Given the description of an element on the screen output the (x, y) to click on. 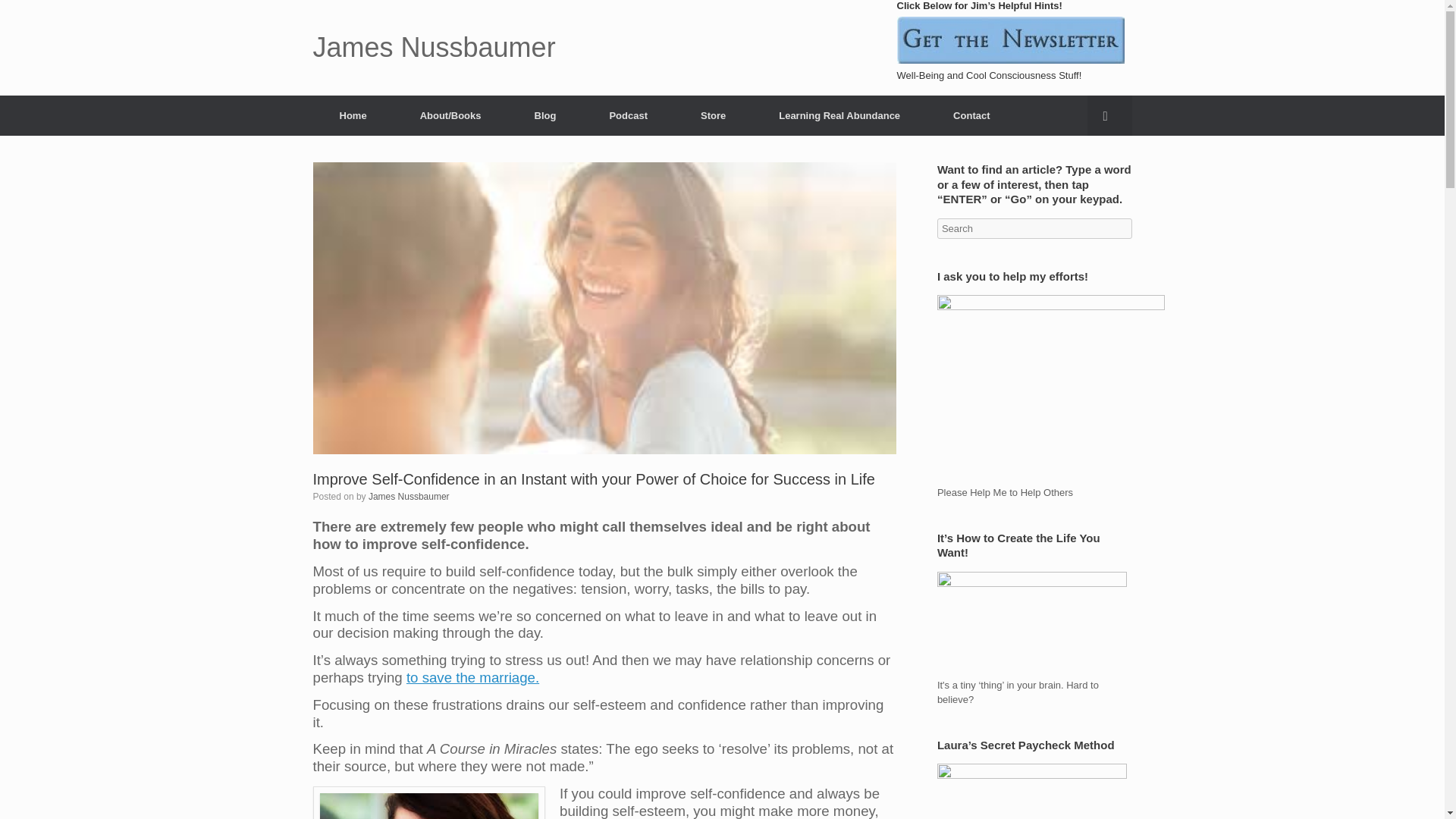
View all posts by James Nussbaumer (408, 496)
It's How to Create the Life You Want! (1031, 624)
James Nussbaumer (433, 47)
Contact (971, 115)
Learning Real Abundance (839, 115)
to save the marriage. (472, 677)
Store (713, 115)
James Nussbaumer (408, 496)
Blog (545, 115)
Home (353, 115)
